Given the description of an element on the screen output the (x, y) to click on. 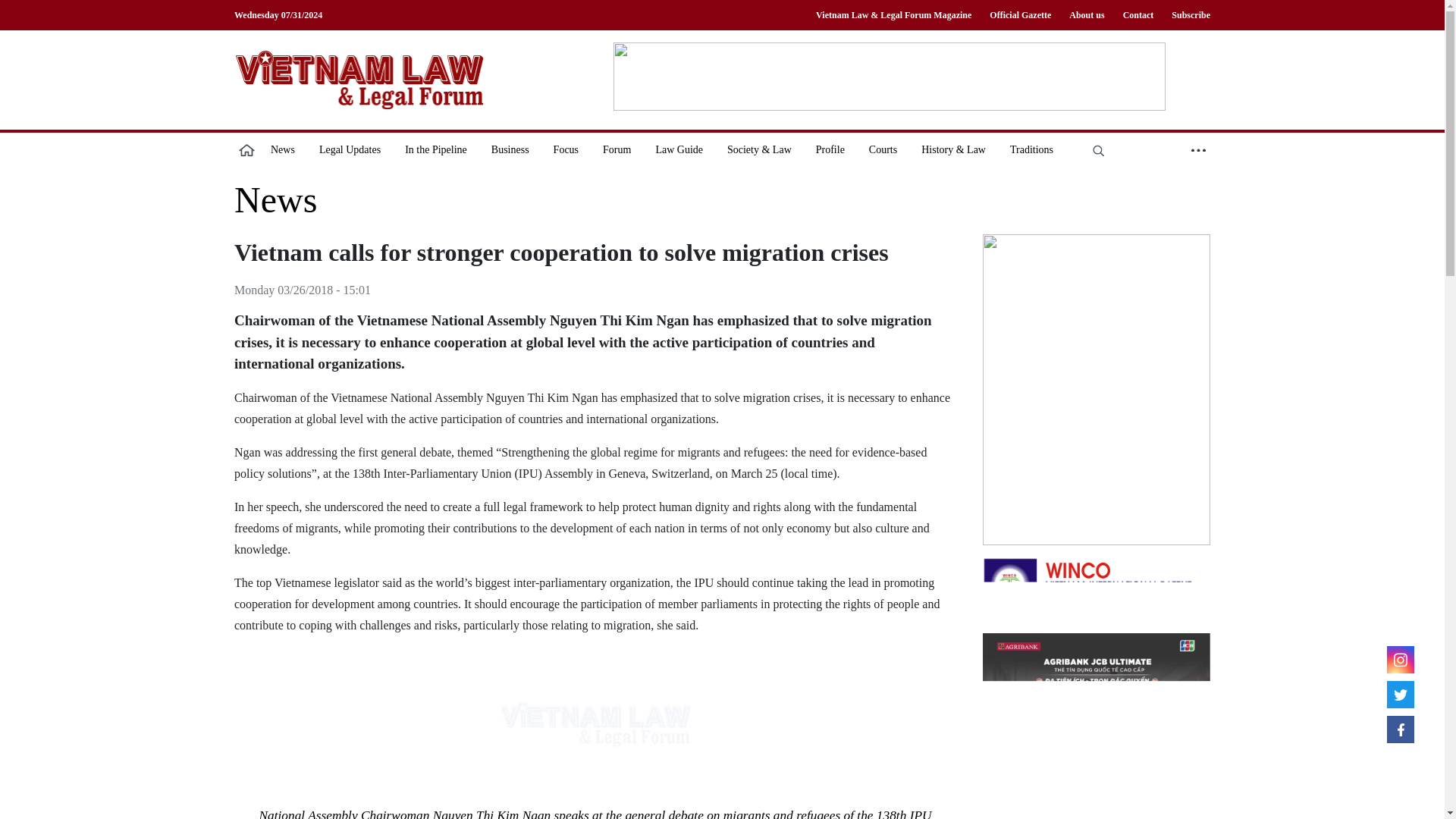
humburger (1197, 149)
logo (359, 79)
Official Gazette (1019, 15)
Profile (830, 149)
Focus (566, 149)
Law Guide (678, 149)
Subscribe (1185, 15)
In the Pipeline (436, 149)
icon search (1098, 149)
home (246, 149)
Forum (617, 149)
Traditions (1031, 149)
Contact (1138, 15)
Legal Updates (350, 149)
News (275, 200)
